Given the description of an element on the screen output the (x, y) to click on. 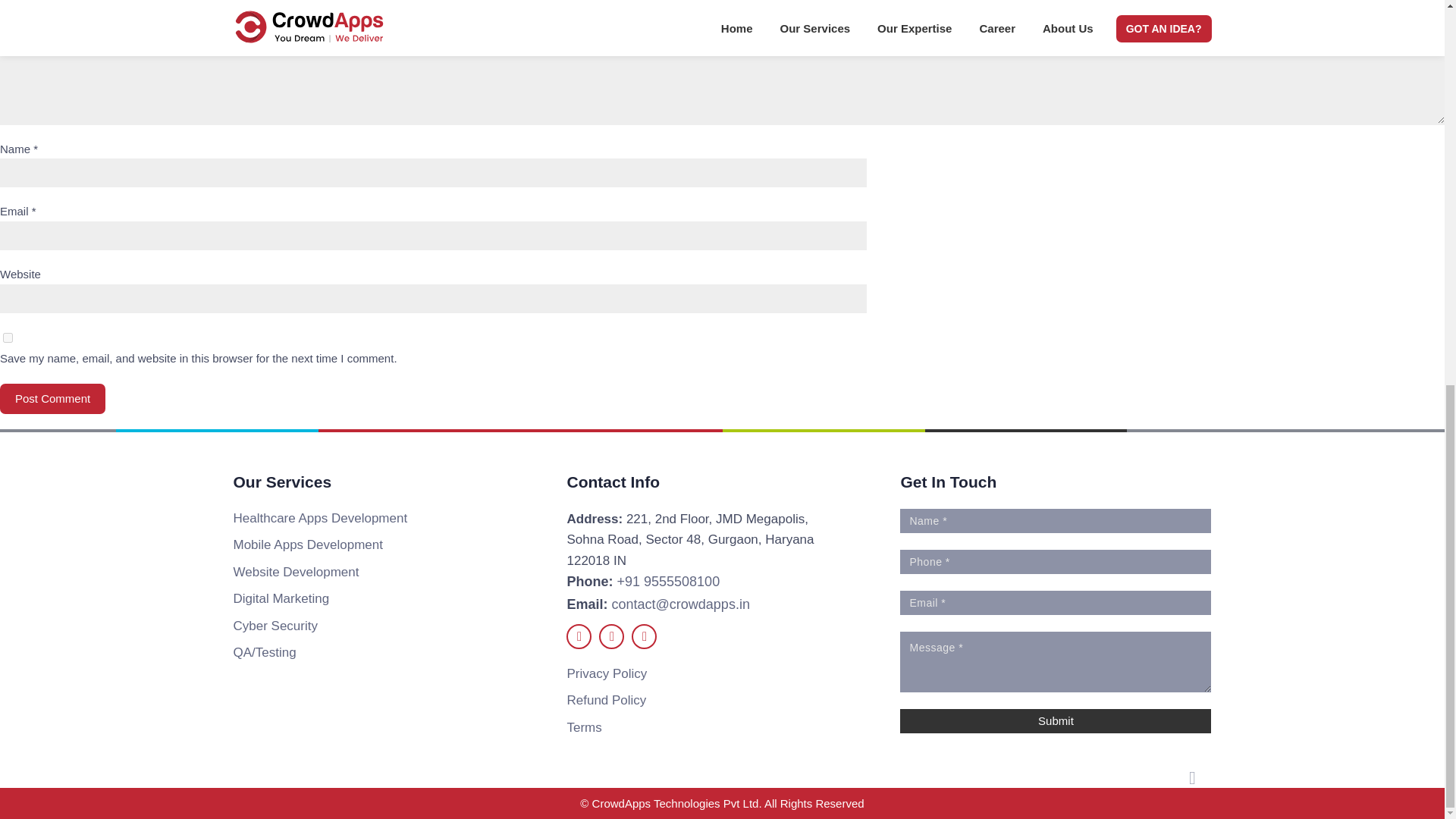
Post Comment (52, 399)
yes (7, 337)
Post Comment (52, 399)
Privacy Policy (606, 673)
Terms (583, 727)
Twitter (611, 636)
Healthcare Apps Development (319, 517)
Website Development (295, 571)
Cyber Security (274, 626)
Facebook (578, 636)
